Given the description of an element on the screen output the (x, y) to click on. 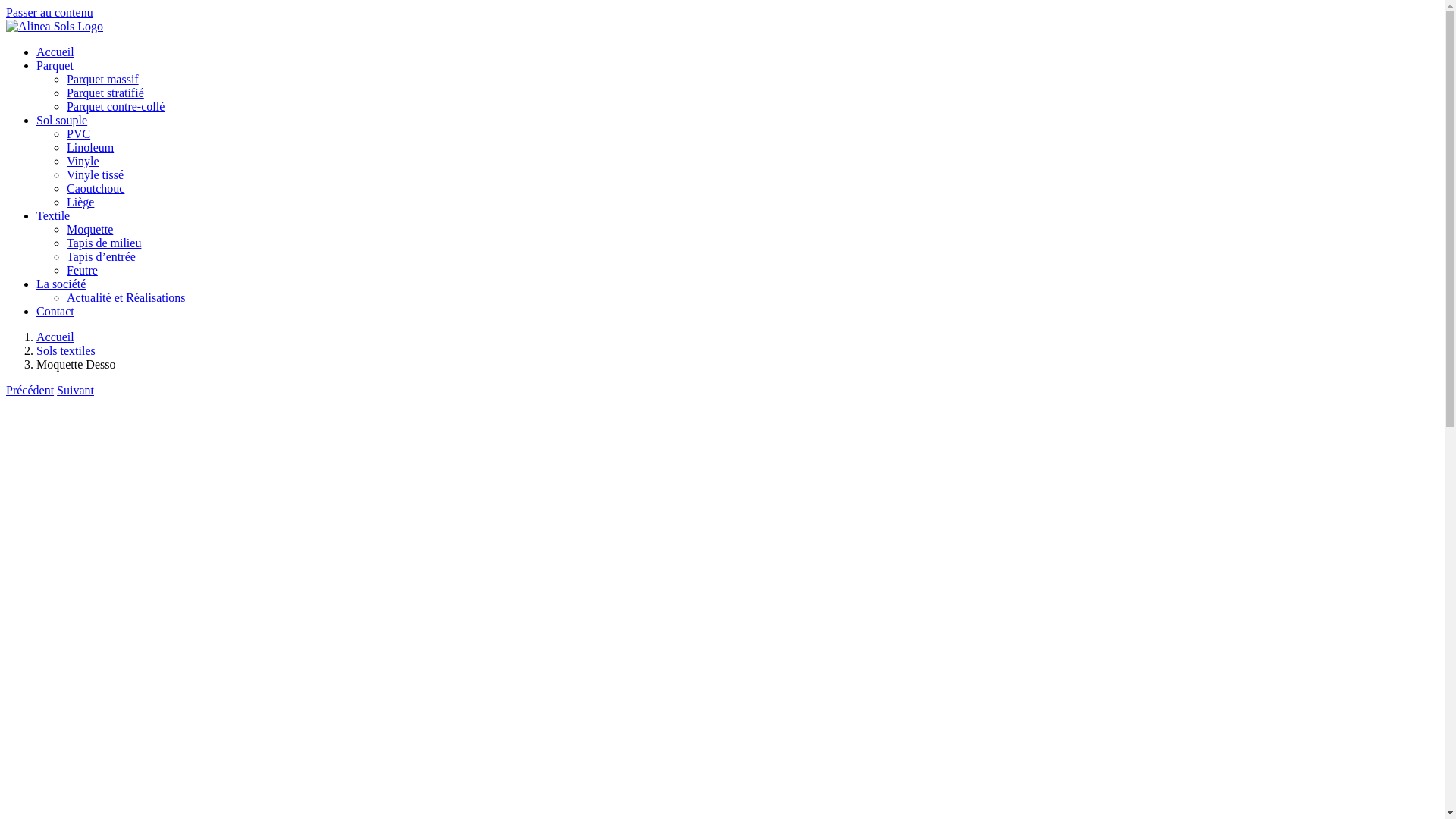
Parquet massif Element type: text (102, 78)
Textile Element type: text (52, 215)
Parquet Element type: text (54, 65)
Caoutchouc Element type: text (95, 188)
Contact Element type: text (55, 310)
Linoleum Element type: text (89, 147)
Vinyle Element type: text (82, 160)
Sols textiles Element type: text (65, 350)
Passer au contenu Element type: text (49, 12)
Moquette Element type: text (89, 228)
Tapis de milieu Element type: text (103, 242)
Suivant Element type: text (75, 389)
Accueil Element type: text (55, 51)
Feutre Element type: text (81, 269)
Accueil Element type: text (55, 336)
Sol souple Element type: text (61, 119)
PVC Element type: text (78, 133)
